Given the description of an element on the screen output the (x, y) to click on. 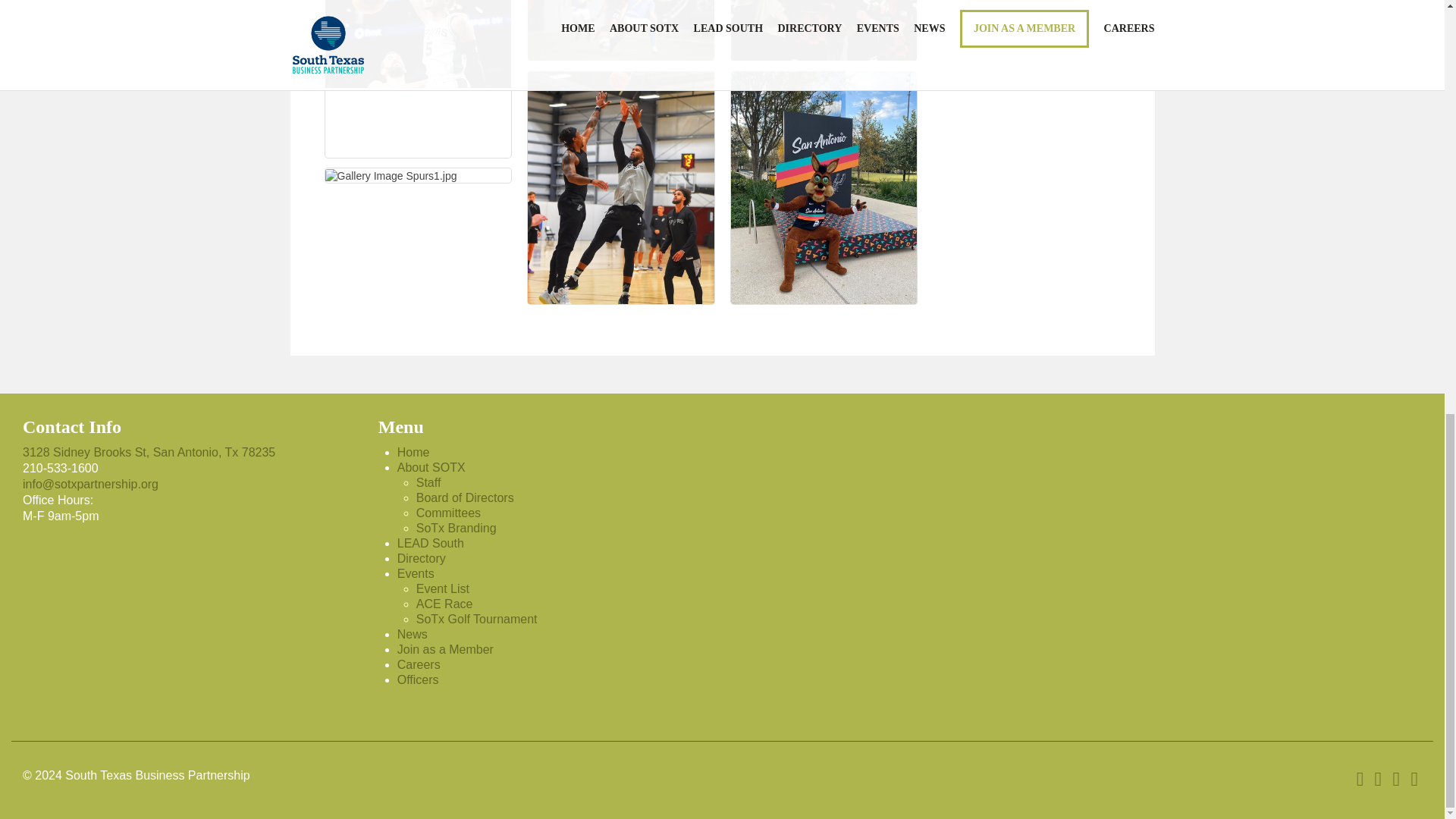
Gallery Image Spurs1.jpg (390, 175)
Gallery Image Spurs2.jpg (417, 79)
